Given the description of an element on the screen output the (x, y) to click on. 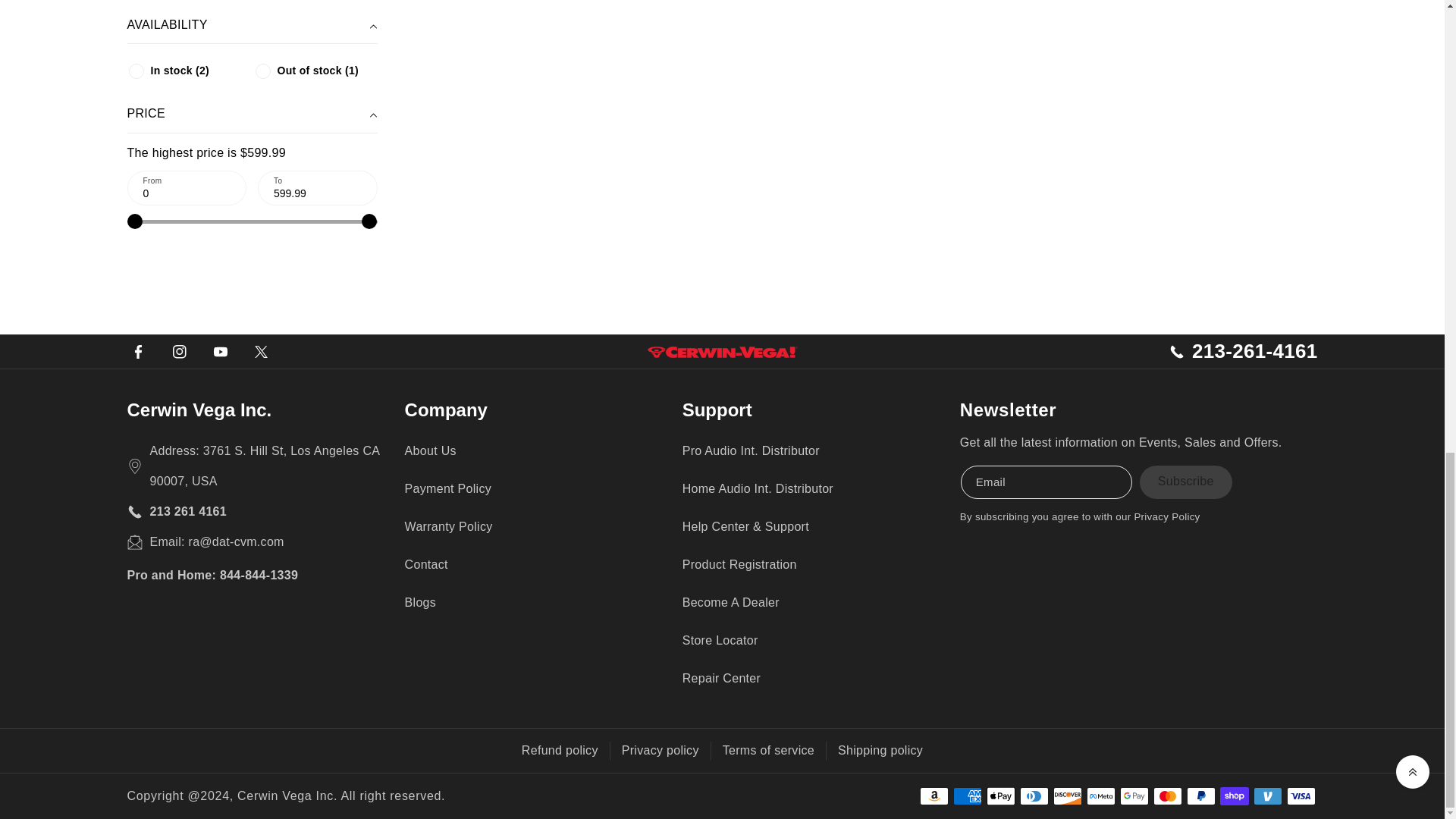
599.99 (318, 187)
1 (136, 70)
0 (187, 187)
0 (252, 222)
0 (261, 70)
599 (252, 222)
